Given the description of an element on the screen output the (x, y) to click on. 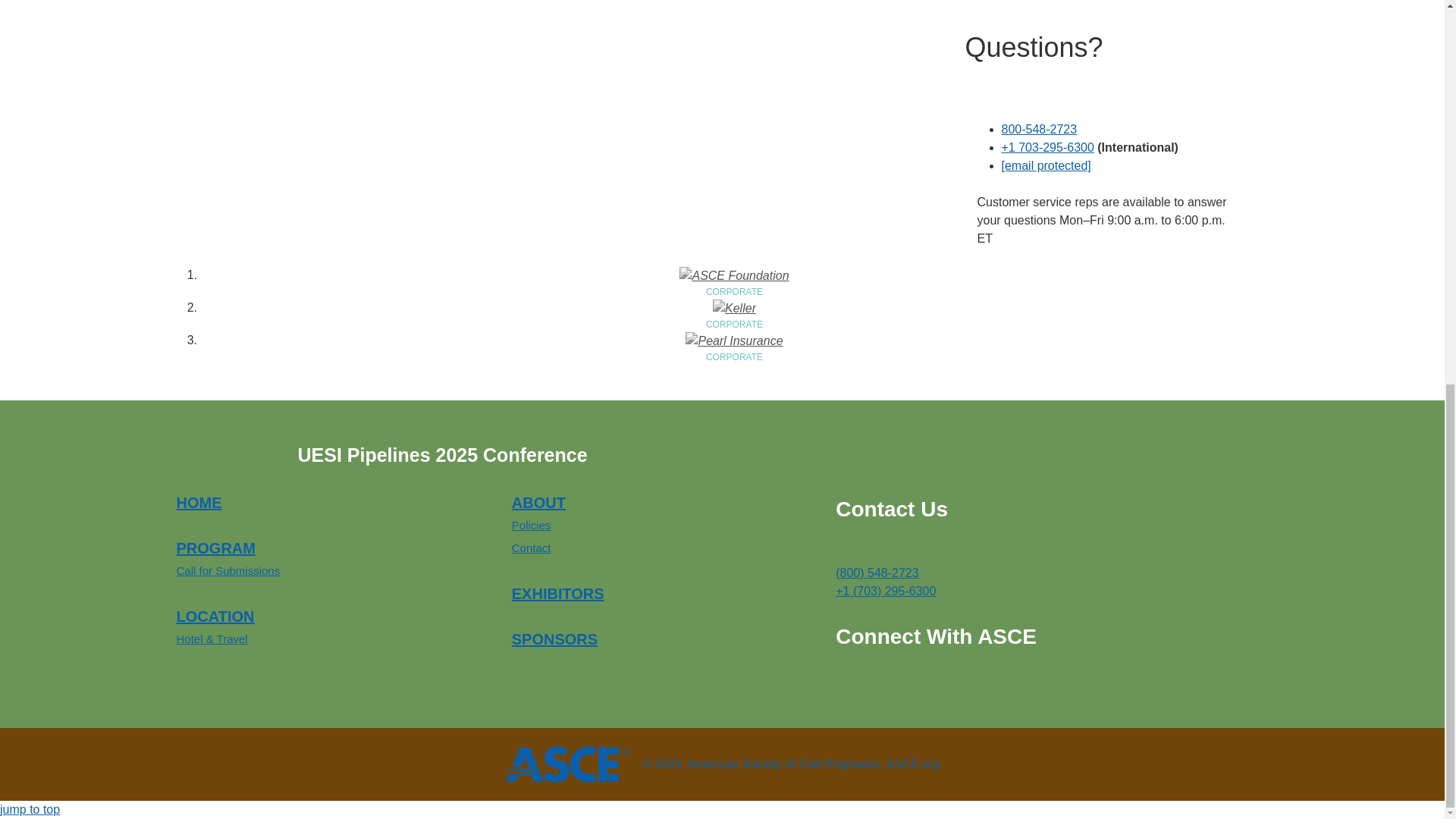
PROGRAM (215, 547)
SPONSORS (554, 638)
Call for Submissions (227, 570)
Contact (531, 547)
LOCATION (214, 616)
EXHIBITORS (558, 593)
Policies (531, 524)
HOME (198, 502)
800-548-2723 (1039, 128)
ABOUT (539, 502)
